Given the description of an element on the screen output the (x, y) to click on. 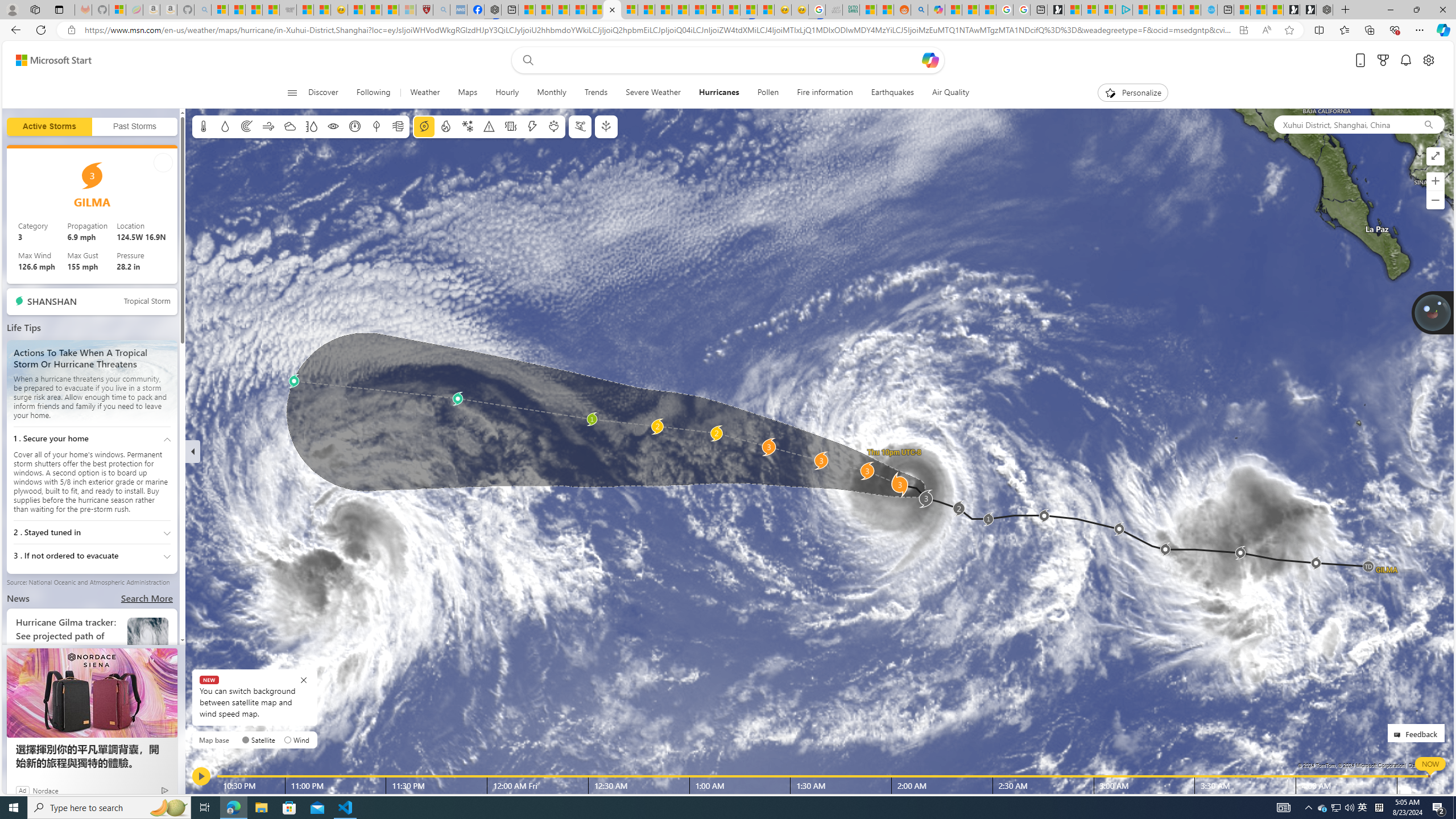
Hide (192, 450)
E-tree (605, 126)
Precipitation (225, 126)
Fire information (824, 92)
